Given the description of an element on the screen output the (x, y) to click on. 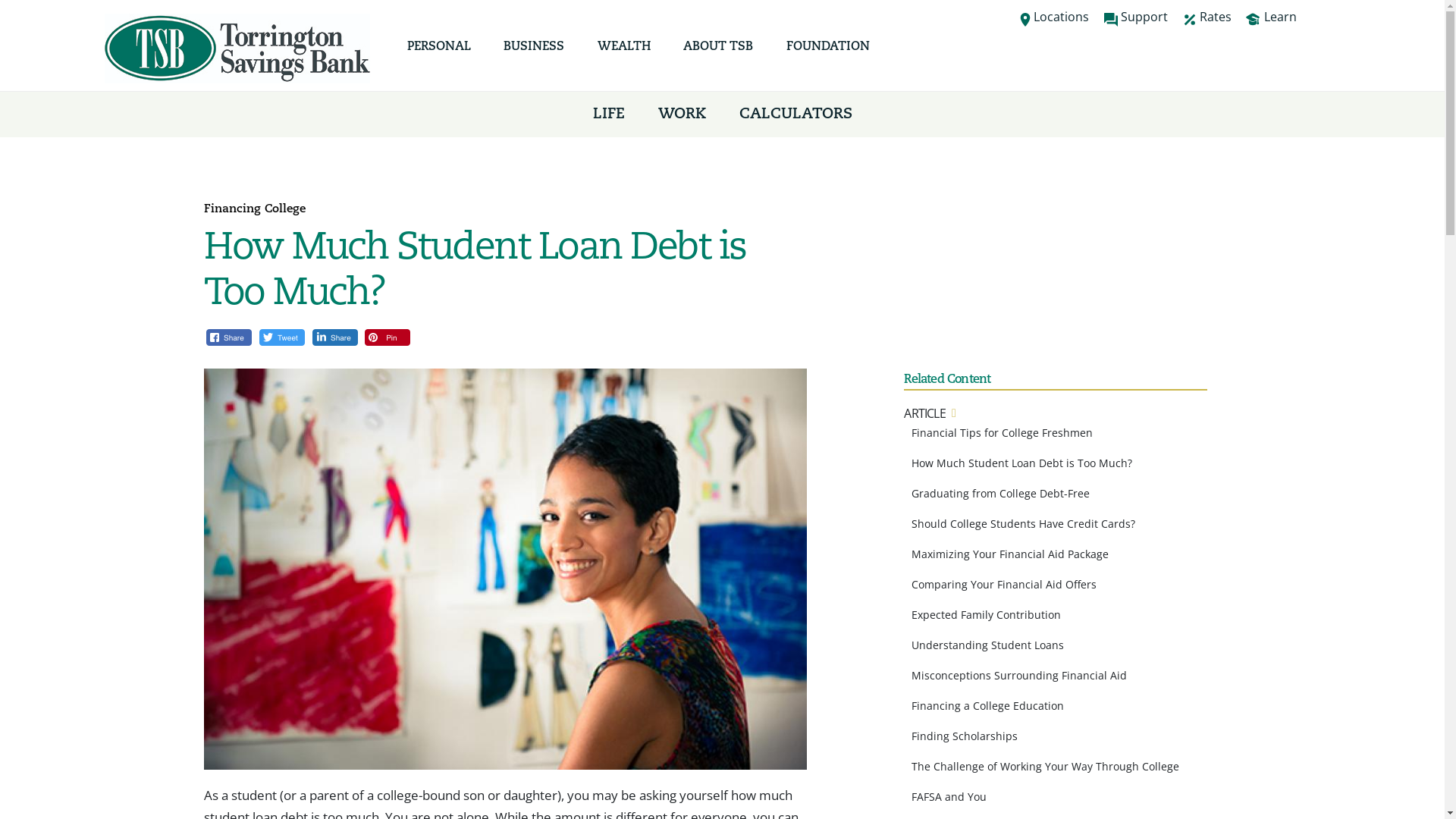
FAFSA and You Element type: text (948, 796)
ABOUT TSB Element type: text (717, 53)
Support Element type: text (1141, 19)
Finding Scholarships Element type: text (964, 735)
PERSONAL Element type: text (438, 53)
CALCULATORS Element type: text (794, 114)
Rates Element type: text (1213, 19)
Expected Family Contribution Element type: text (985, 614)
FOUNDATION Element type: text (827, 53)
Comparing Your Financial Aid Offers Element type: text (1003, 584)
Skip to main content Element type: text (694, 1)
The Challenge of Working Your Way Through College Element type: text (1045, 766)
How Much Student Loan Debt is Too Much? Element type: text (1021, 462)
LIFE Element type: text (608, 114)
Should College Students Have Credit Cards? Element type: text (1023, 523)
Locations Element type: text (1059, 19)
Maximizing Your Financial Aid Package Element type: text (1009, 553)
WEALTH Element type: text (623, 53)
BUSINESS Element type: text (533, 53)
ARTICLE Element type: text (923, 412)
WORK Element type: text (681, 114)
Learn Element type: text (1276, 19)
Misconceptions Surrounding Financial Aid Element type: text (1018, 675)
Financial Tips for College Freshmen Element type: text (1001, 432)
Understanding Student Loans Element type: text (987, 644)
Financing a College Education Element type: text (987, 705)
Graduating from College Debt-Free Element type: text (1000, 493)
